Given the description of an element on the screen output the (x, y) to click on. 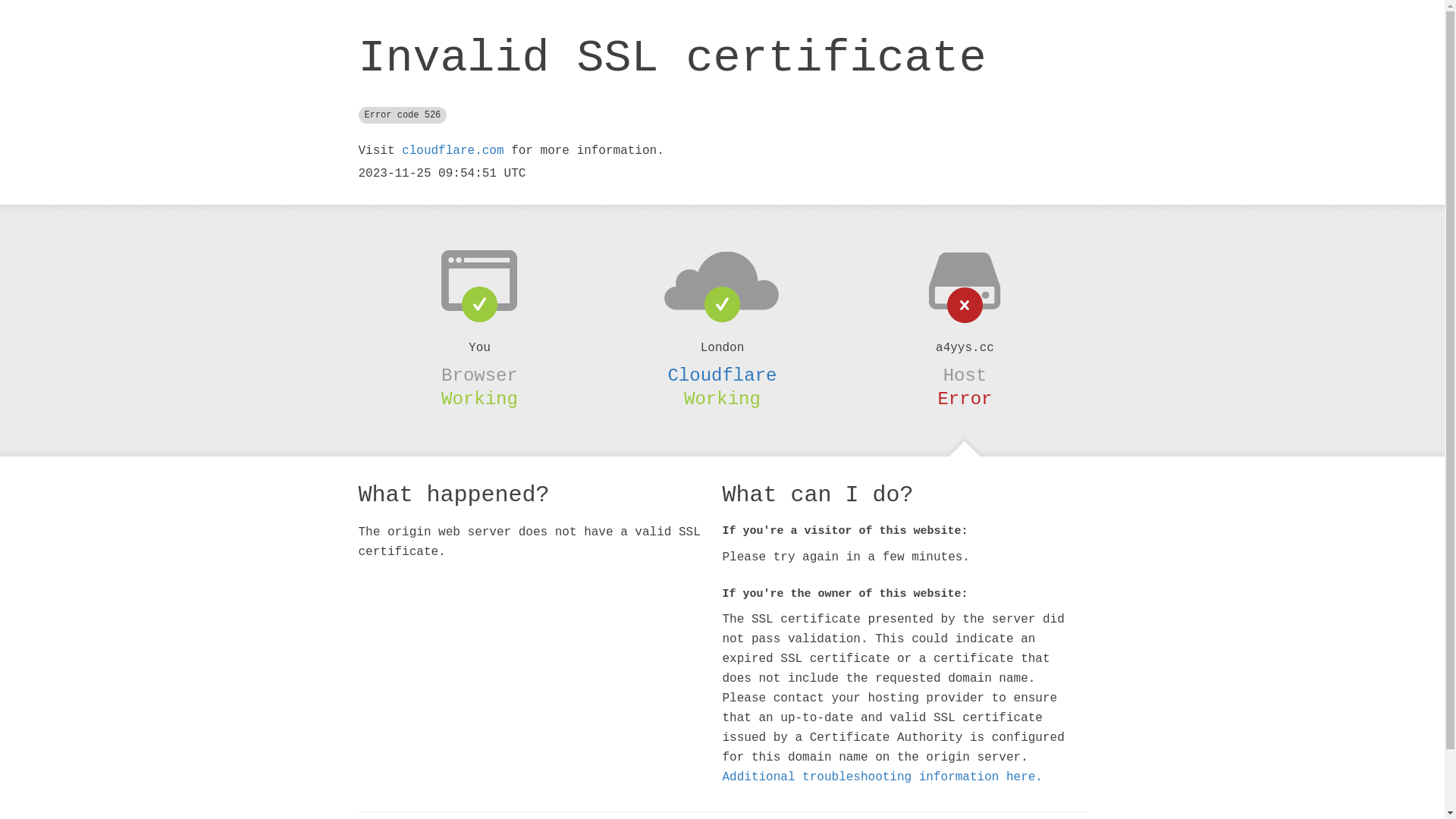
Cloudflare Element type: text (721, 375)
Additional troubleshooting information here. Element type: text (881, 777)
cloudflare.com Element type: text (452, 150)
